Given the description of an element on the screen output the (x, y) to click on. 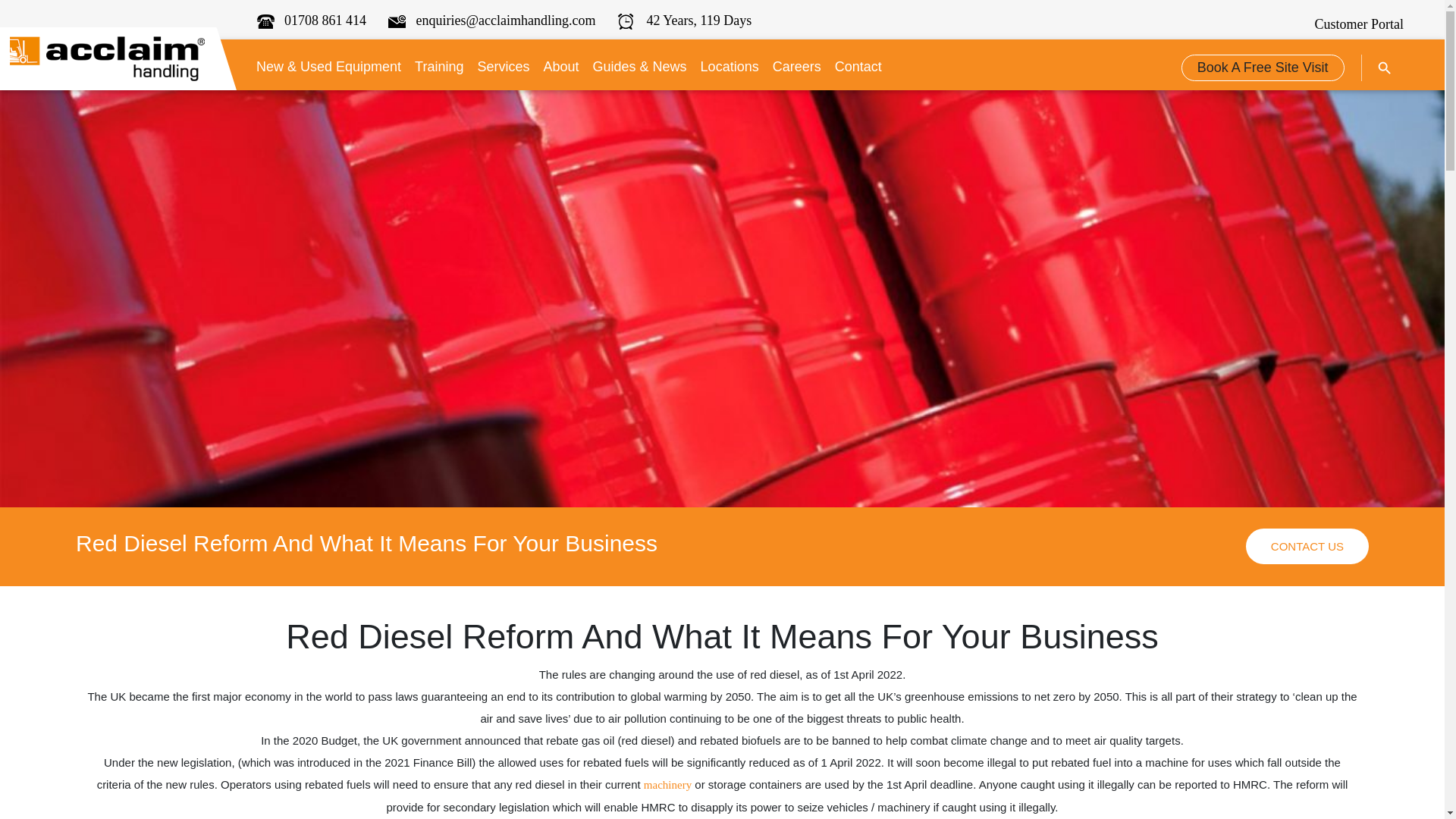
42 Years, 119 Days (684, 20)
Customer Portal (1354, 23)
01708 861 414 (311, 20)
